Given the description of an element on the screen output the (x, y) to click on. 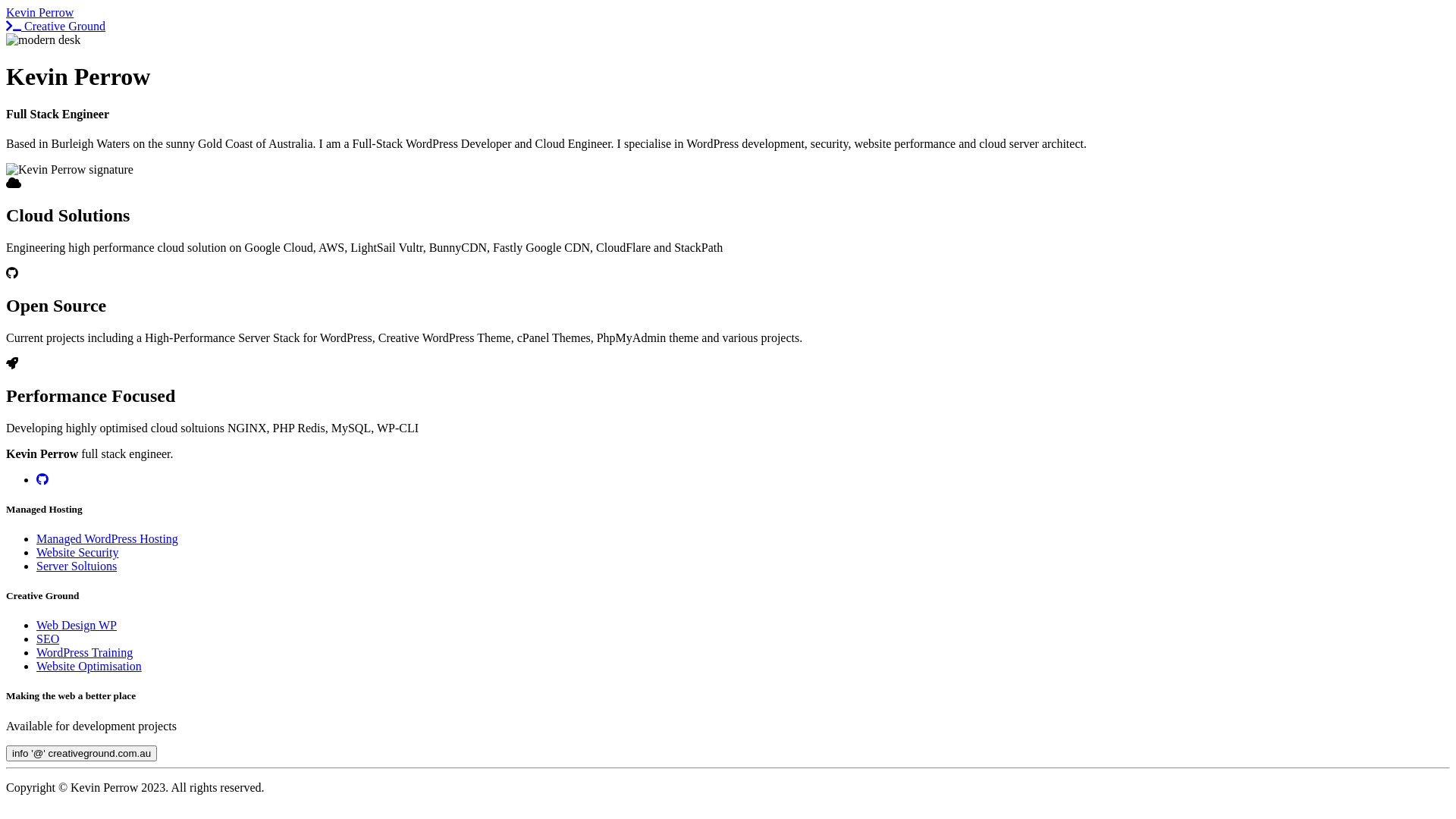
Creative Ground Element type: text (55, 25)
Kevin Perrow Element type: hover (69, 169)
 Full-Stack WordPress Developer Gold Coast Element type: hover (43, 40)
Open Source Projects Element type: hover (42, 479)
Managed WordPress Hosting Element type: text (107, 538)
Server Soltuions Element type: text (76, 565)
Kevin Perrow Element type: text (39, 12)
Website Optimisation Element type: text (88, 665)
WordPress Training Element type: text (84, 652)
Web Design WP Element type: text (76, 624)
info '@' creativeground.com.au Element type: text (81, 753)
SEO Element type: text (47, 638)
Website Security Element type: text (77, 552)
